Given the description of an element on the screen output the (x, y) to click on. 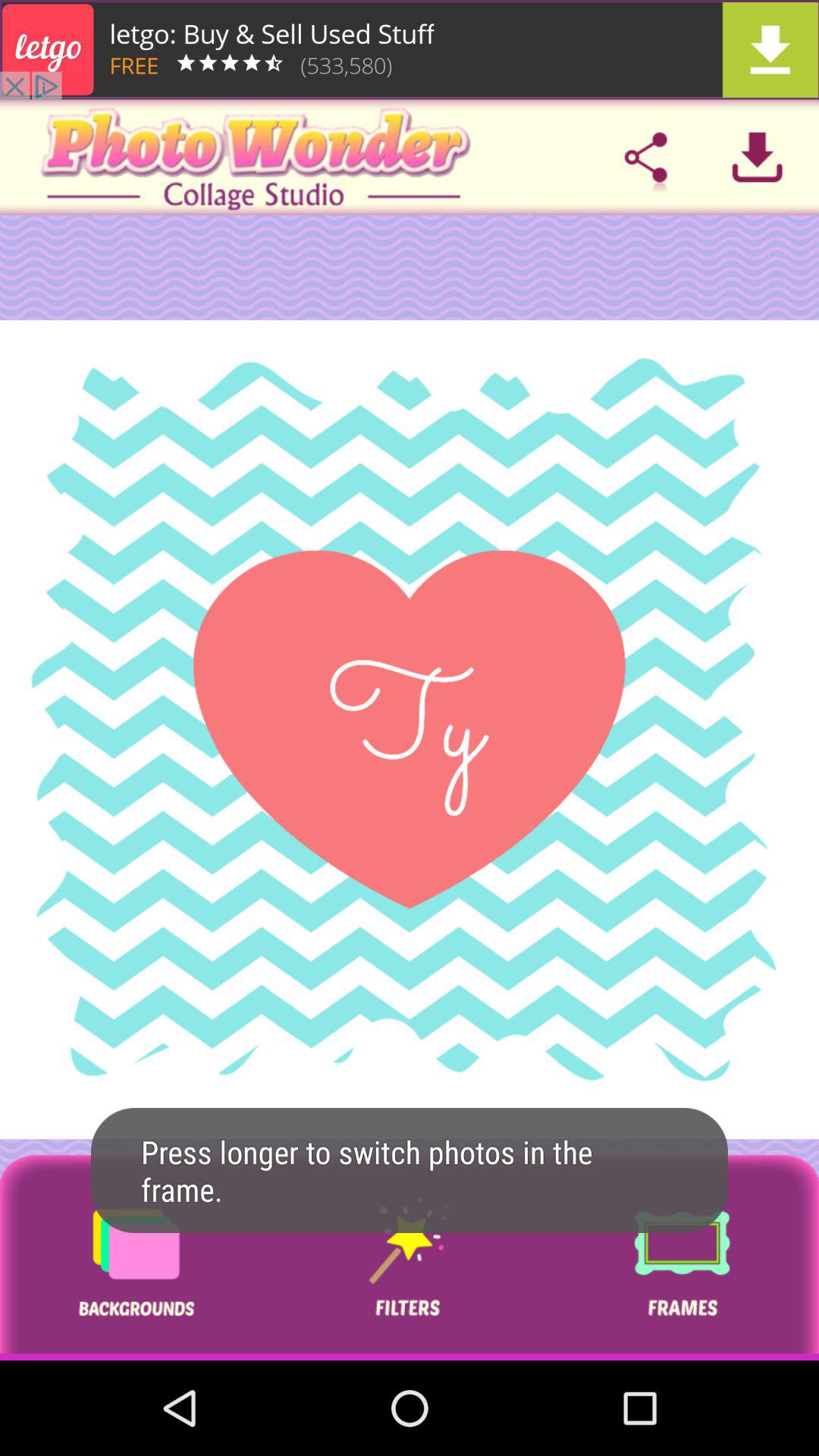
go to advertisement site for letgo (409, 49)
